Given the description of an element on the screen output the (x, y) to click on. 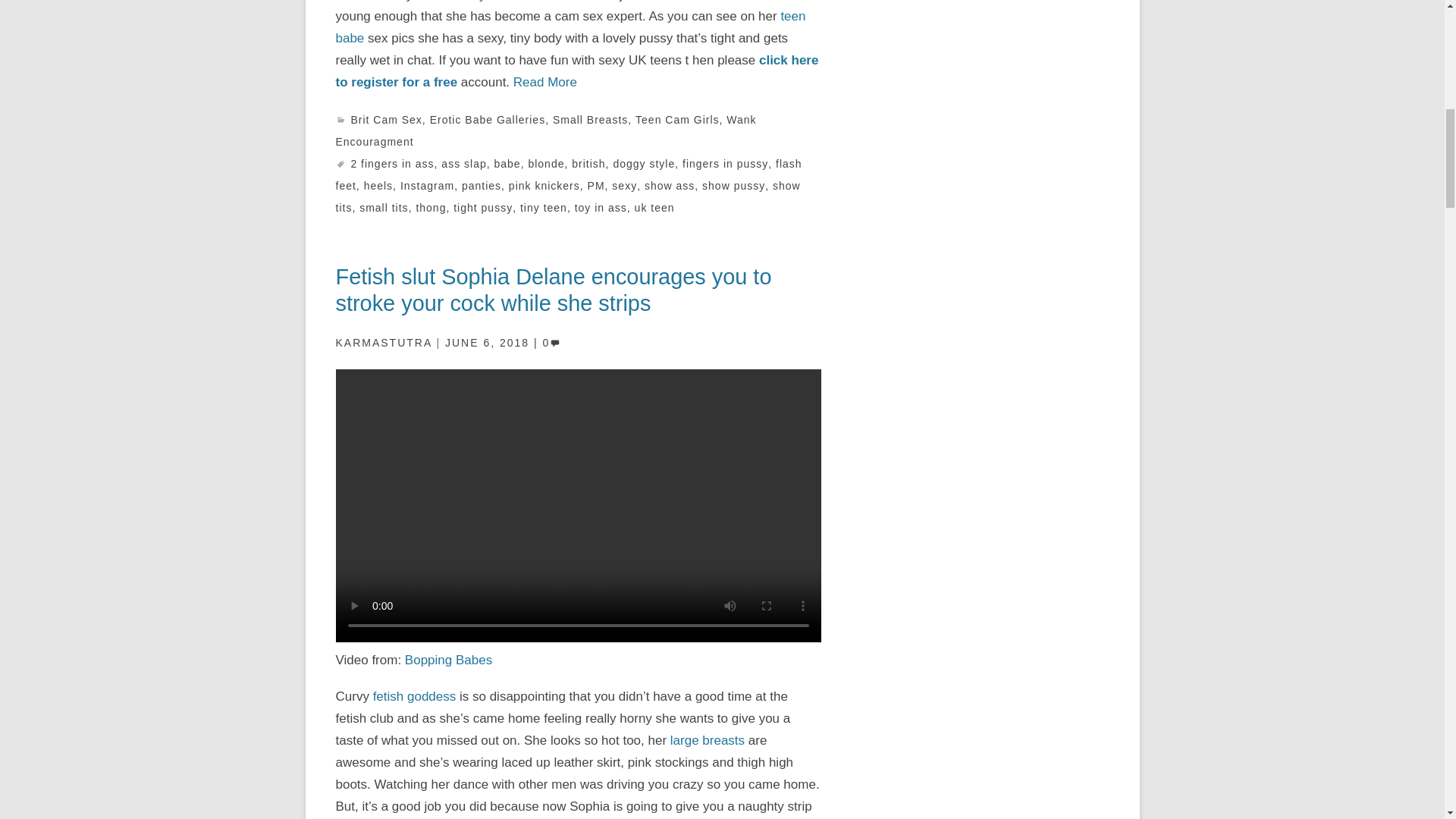
small tits (383, 207)
Brit Cam Sex (386, 119)
Instagram (427, 185)
show ass (669, 185)
2 fingers in ass (391, 163)
Erotic Babe Galleries (487, 119)
teen babe (569, 27)
Posts by Karmastutra (382, 342)
show tits (566, 196)
pink knickers (543, 185)
